Given the description of an element on the screen output the (x, y) to click on. 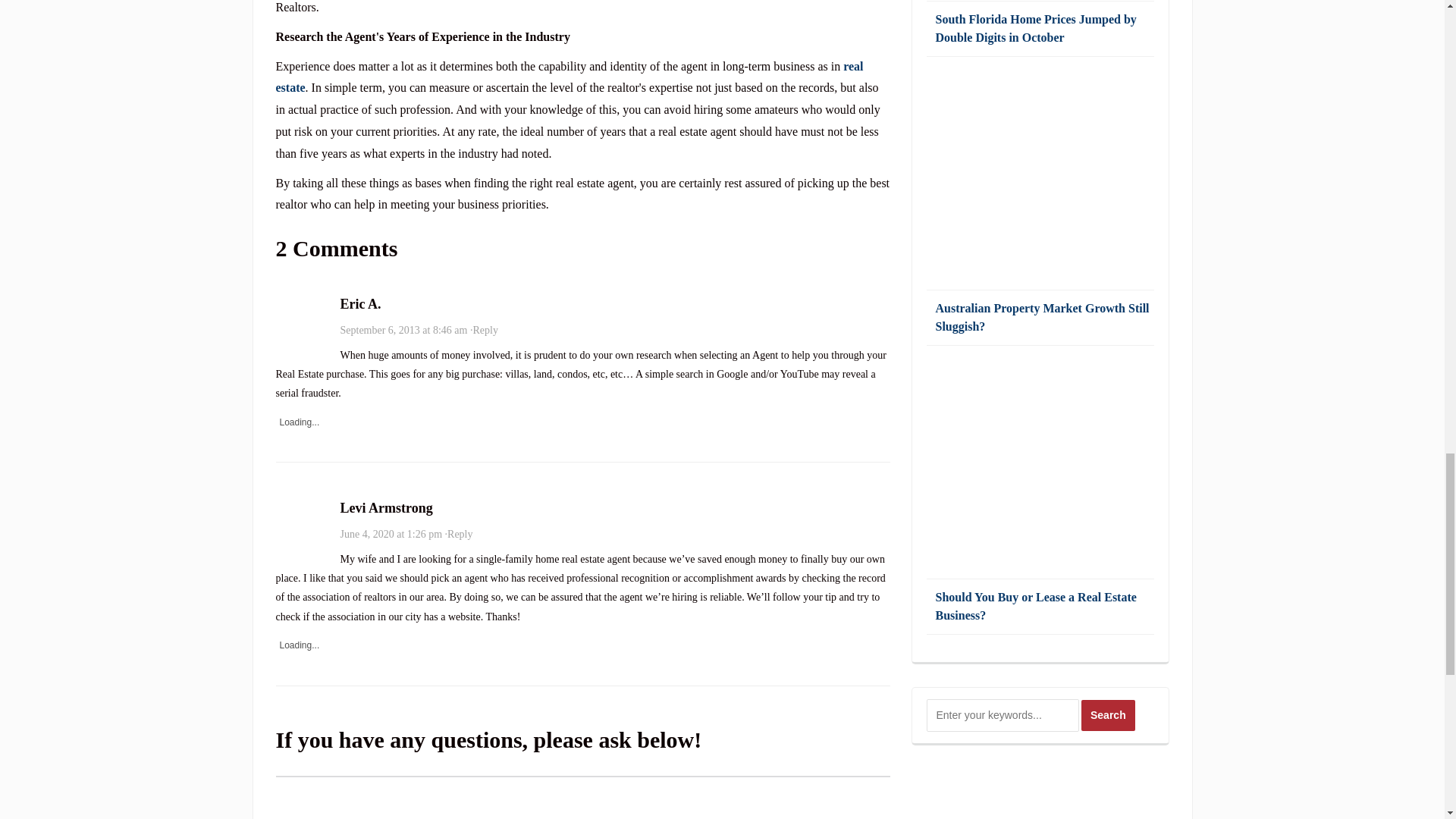
Search (1108, 715)
Search (1108, 715)
